Given the description of an element on the screen output the (x, y) to click on. 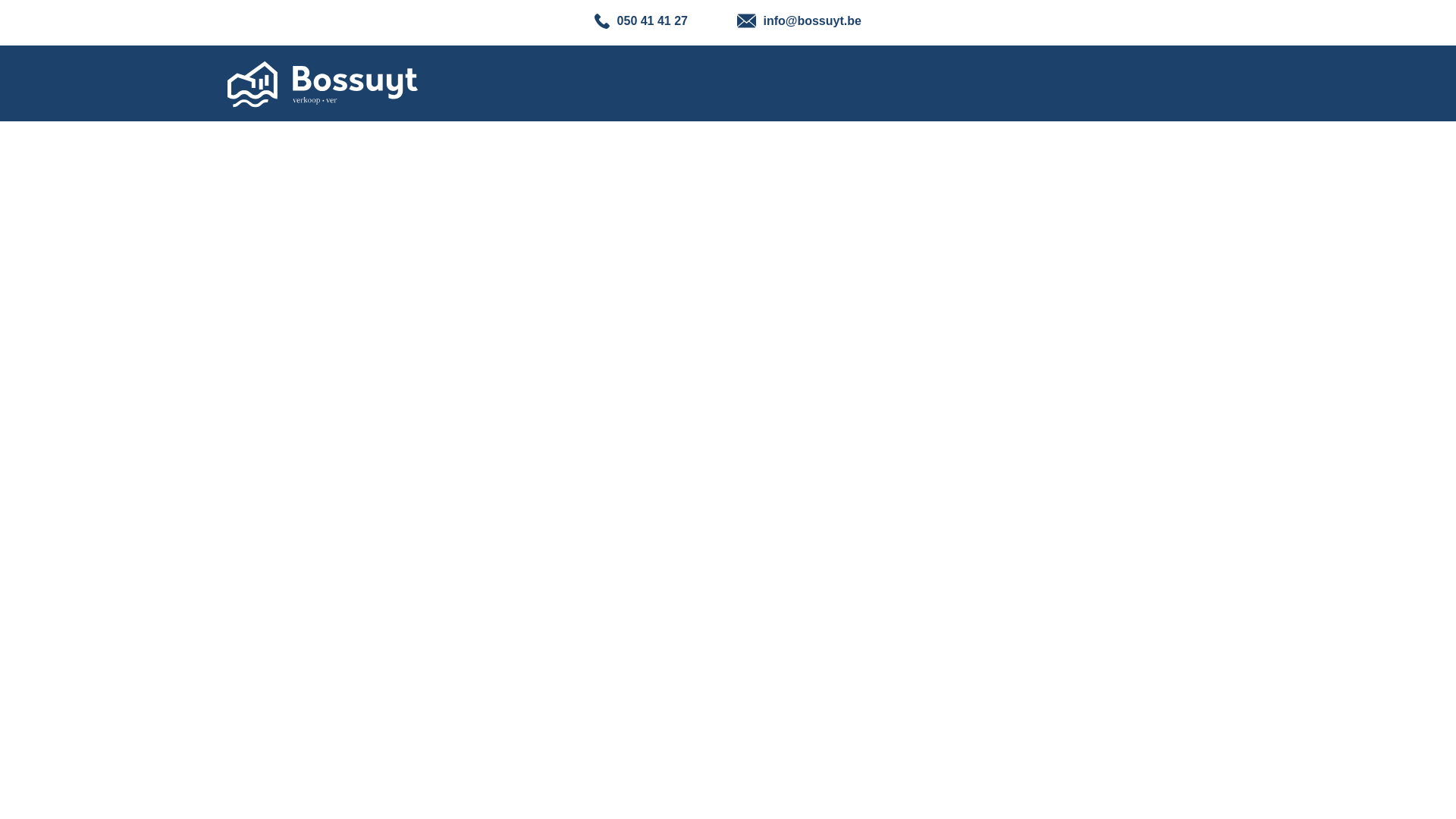
info@bossuyt.be Element type: text (799, 19)
